Given the description of an element on the screen output the (x, y) to click on. 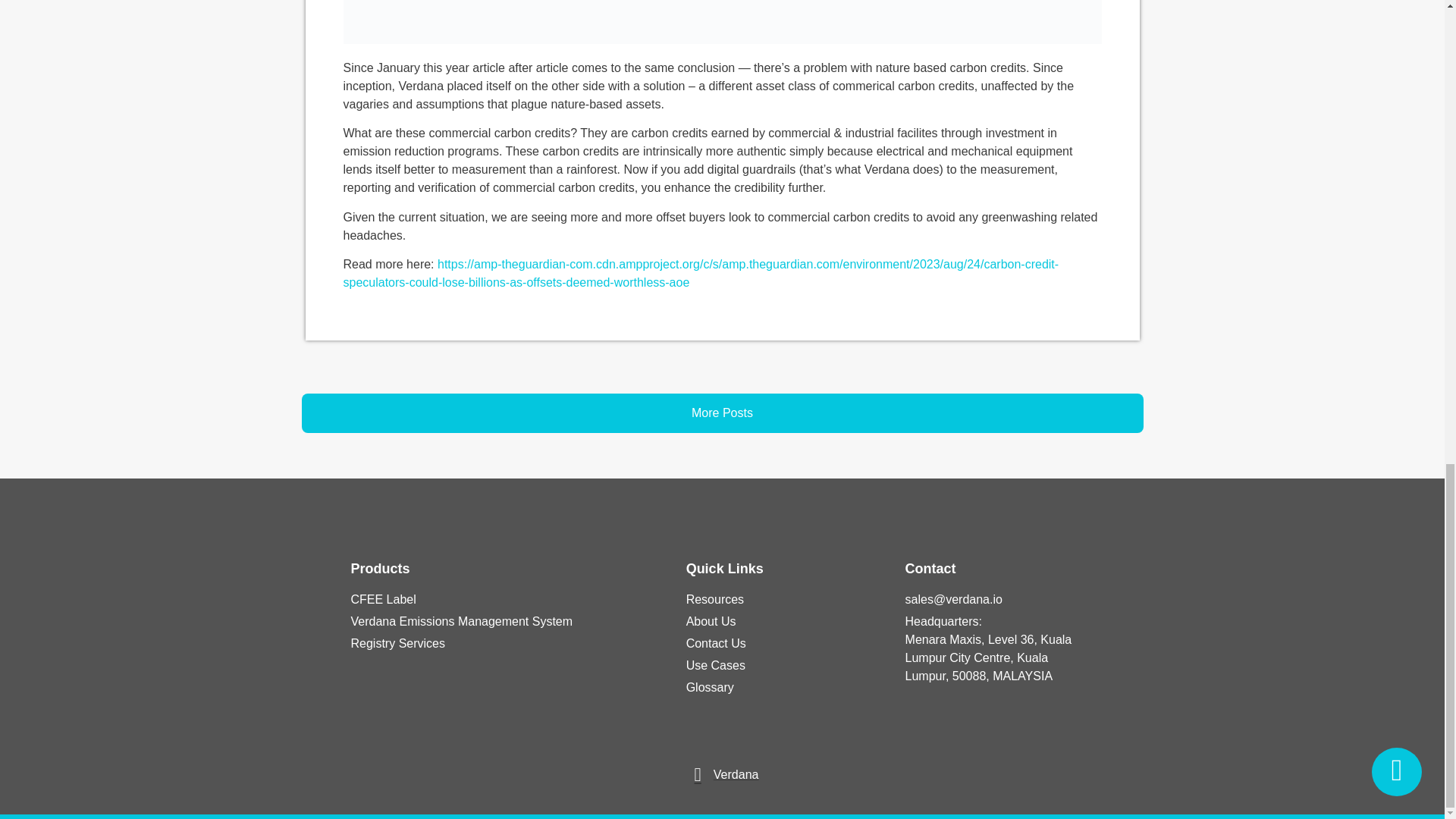
Use Cases (780, 665)
Verdana (721, 773)
Contact Us (780, 643)
Resources (780, 599)
Registry Services (502, 643)
CFEE Label (502, 599)
About Us (780, 621)
Verdana Emissions Management System (502, 621)
More Posts (721, 413)
Glossary (780, 687)
